Given the description of an element on the screen output the (x, y) to click on. 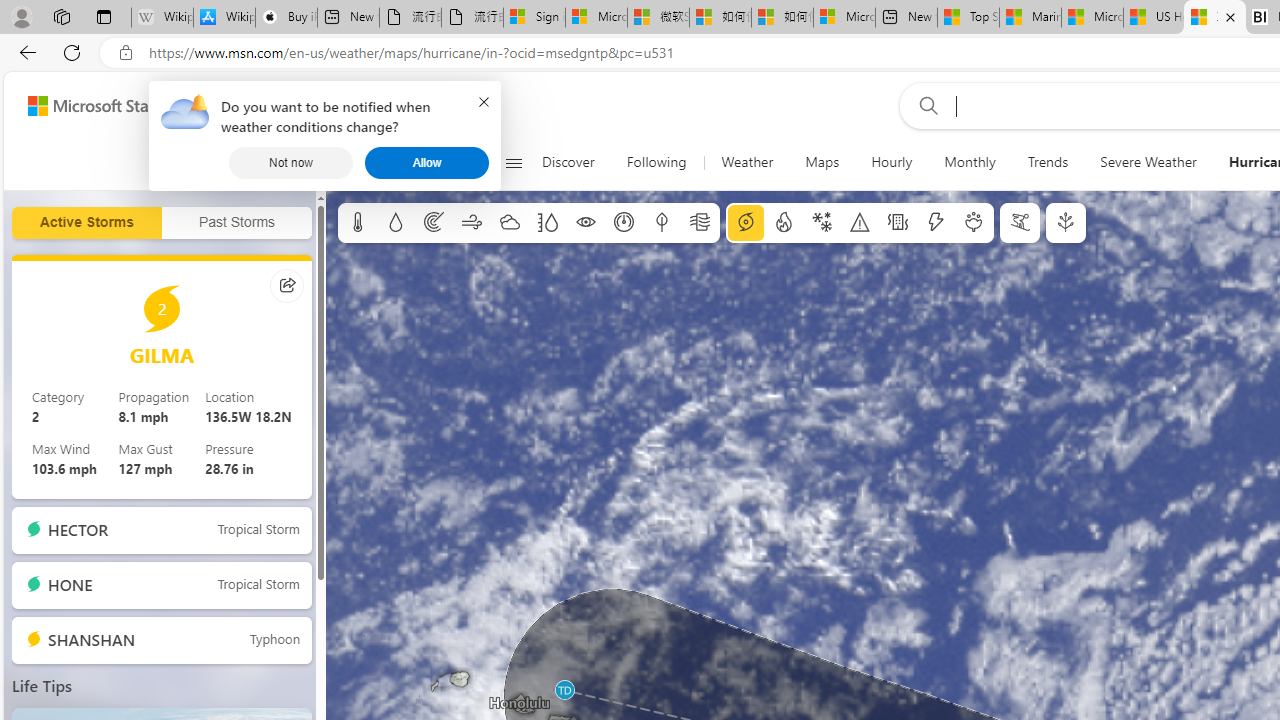
Winter weather (821, 223)
Hurricane (746, 223)
HONE Tropical Storm (161, 585)
Maps (822, 162)
Earthquake (898, 223)
Ski conditions (1020, 223)
Trends (1047, 162)
HECTOR Tropical Storm (161, 529)
Maps (822, 162)
Fire information (783, 223)
